Given the description of an element on the screen output the (x, y) to click on. 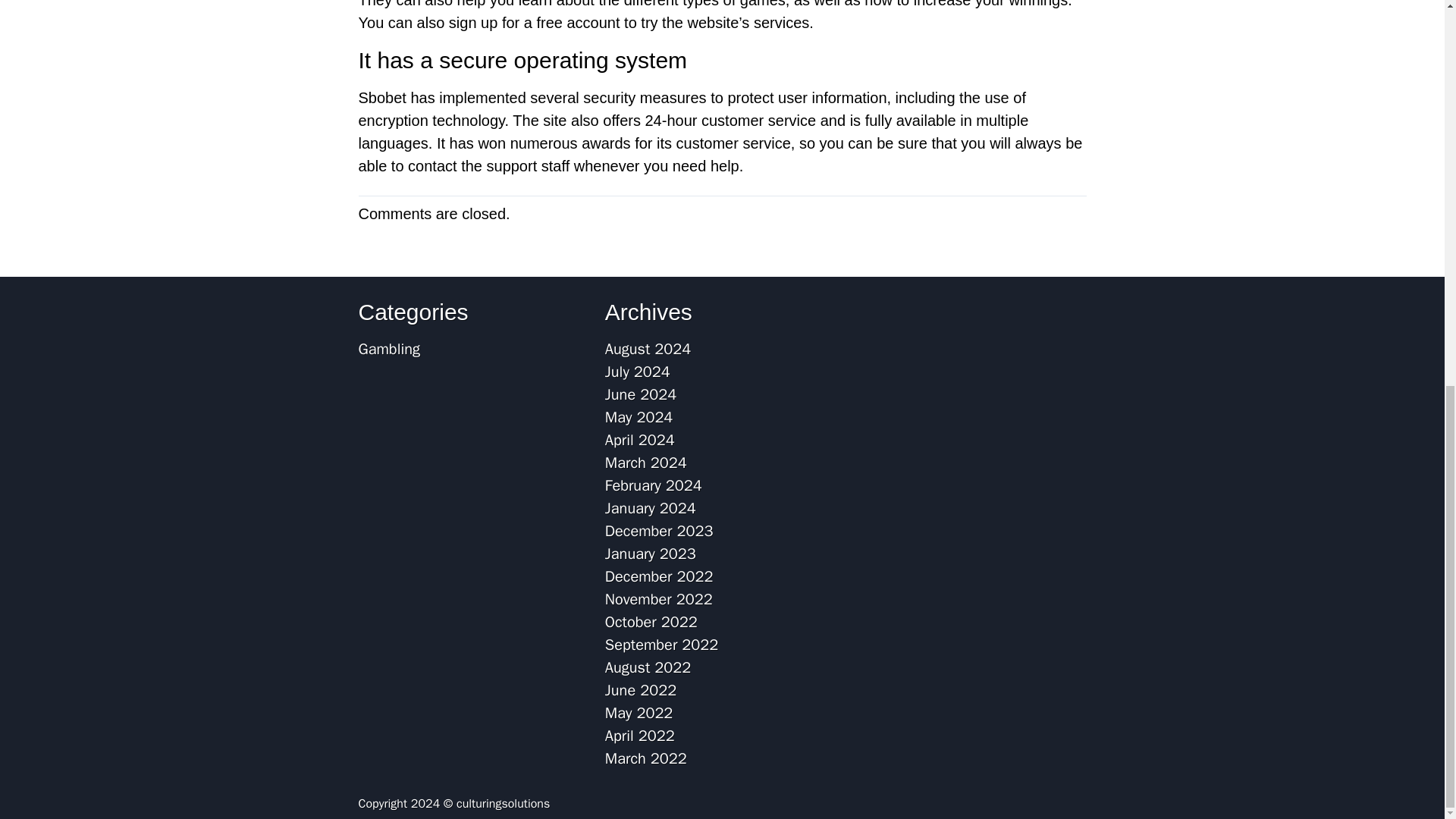
June 2022 (641, 690)
January 2023 (650, 553)
Gambling (388, 348)
February 2024 (653, 485)
November 2022 (659, 599)
September 2022 (661, 644)
July 2024 (637, 371)
June 2024 (641, 394)
April 2022 (640, 735)
May 2024 (638, 416)
October 2022 (651, 621)
December 2023 (659, 530)
April 2024 (640, 439)
August 2022 (648, 667)
August 2024 (648, 348)
